Given the description of an element on the screen output the (x, y) to click on. 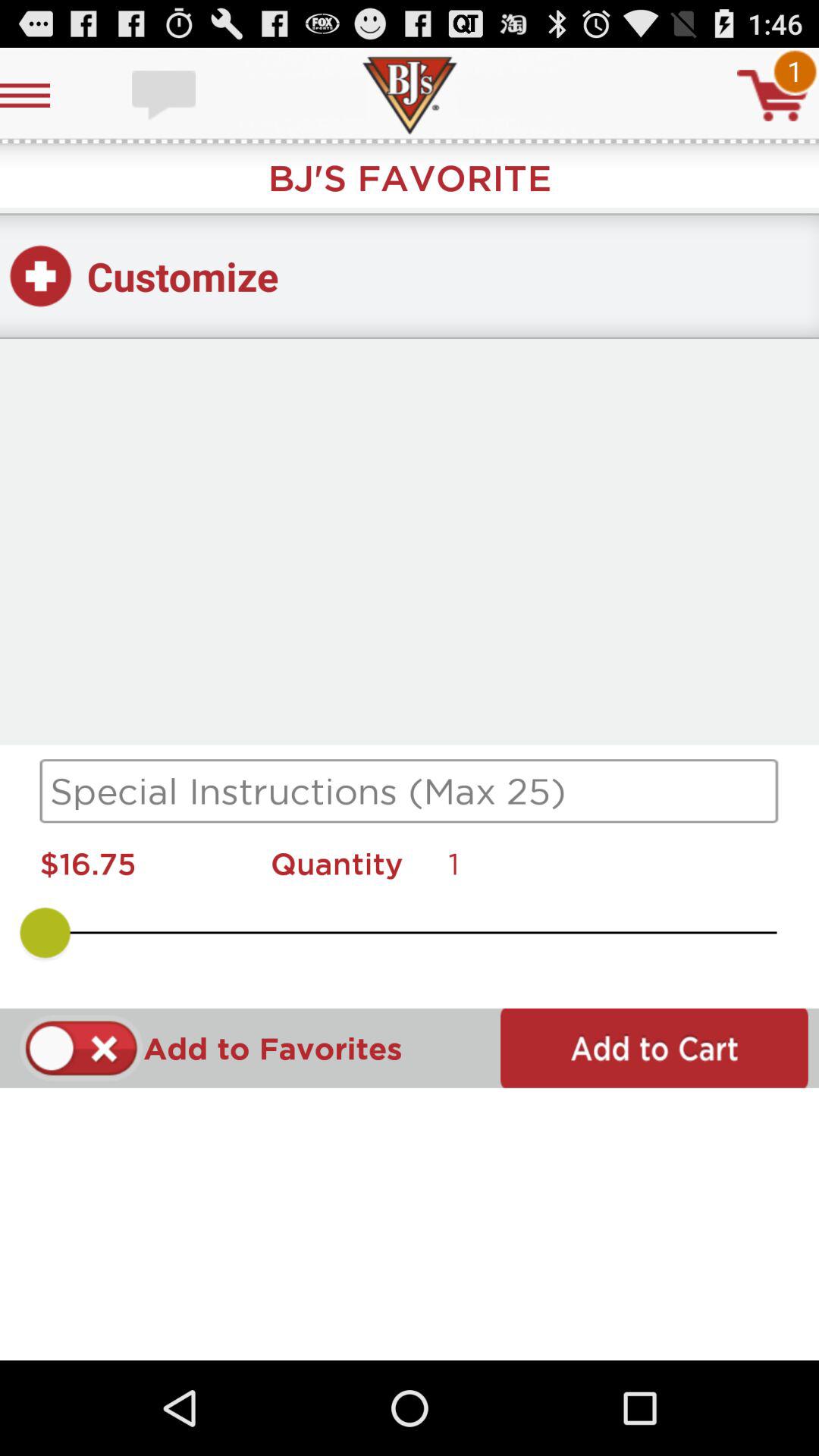
add to favorite option (81, 1048)
